Given the description of an element on the screen output the (x, y) to click on. 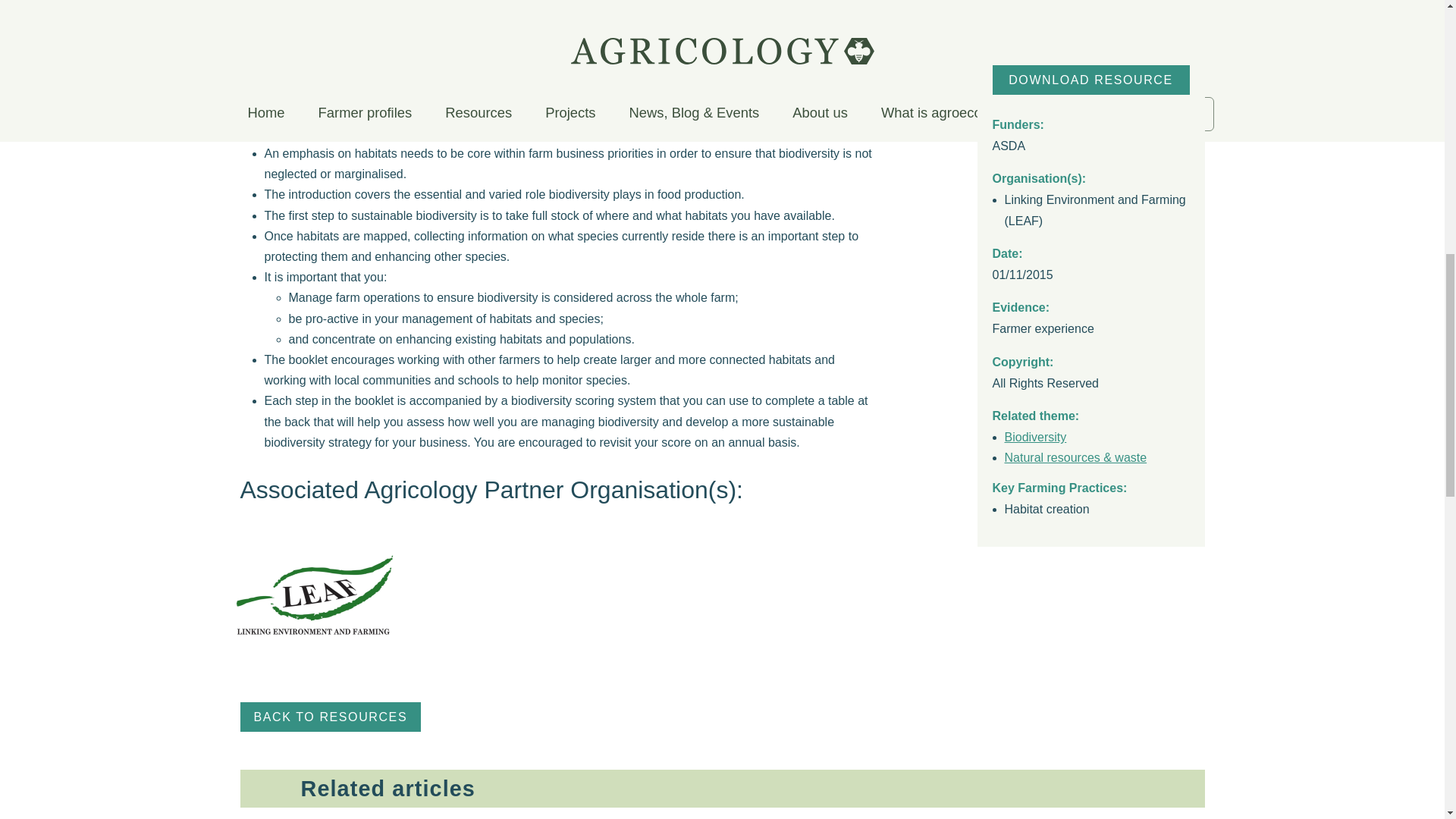
Biodiversity (1034, 254)
BACK TO RESOURCES (330, 716)
